Given the description of an element on the screen output the (x, y) to click on. 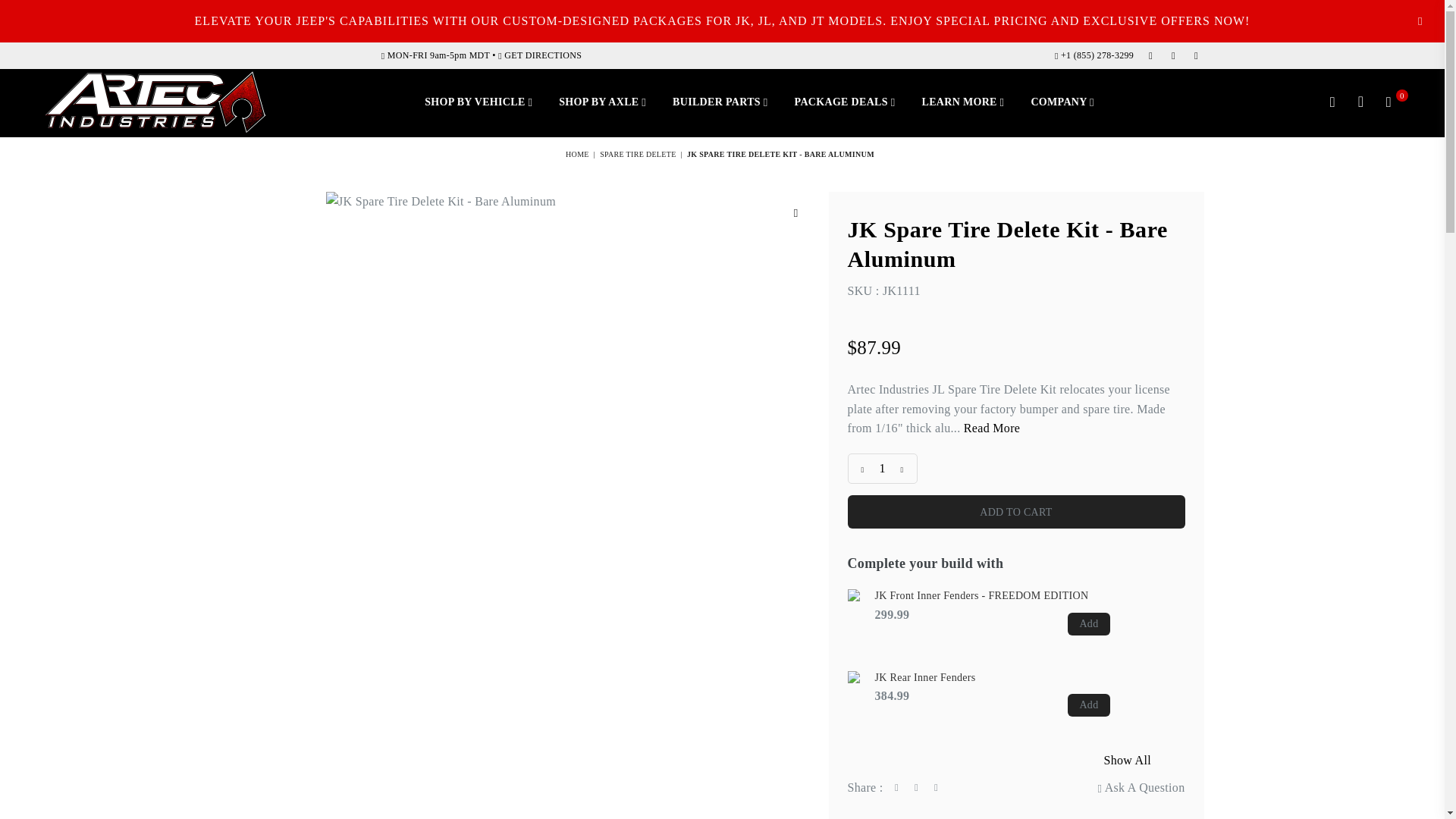
Artec Industries on YouTube (1196, 55)
ARTEC INDUSTRIES (155, 103)
Logout (1360, 102)
Tweet on Twitter (916, 787)
SHOP BY VEHICLE (478, 103)
BUILDER PARTS (719, 103)
YouTube (1196, 55)
Artec Industries on Instagram (1173, 55)
CART (1388, 102)
Instagram (1173, 55)
